Given the description of an element on the screen output the (x, y) to click on. 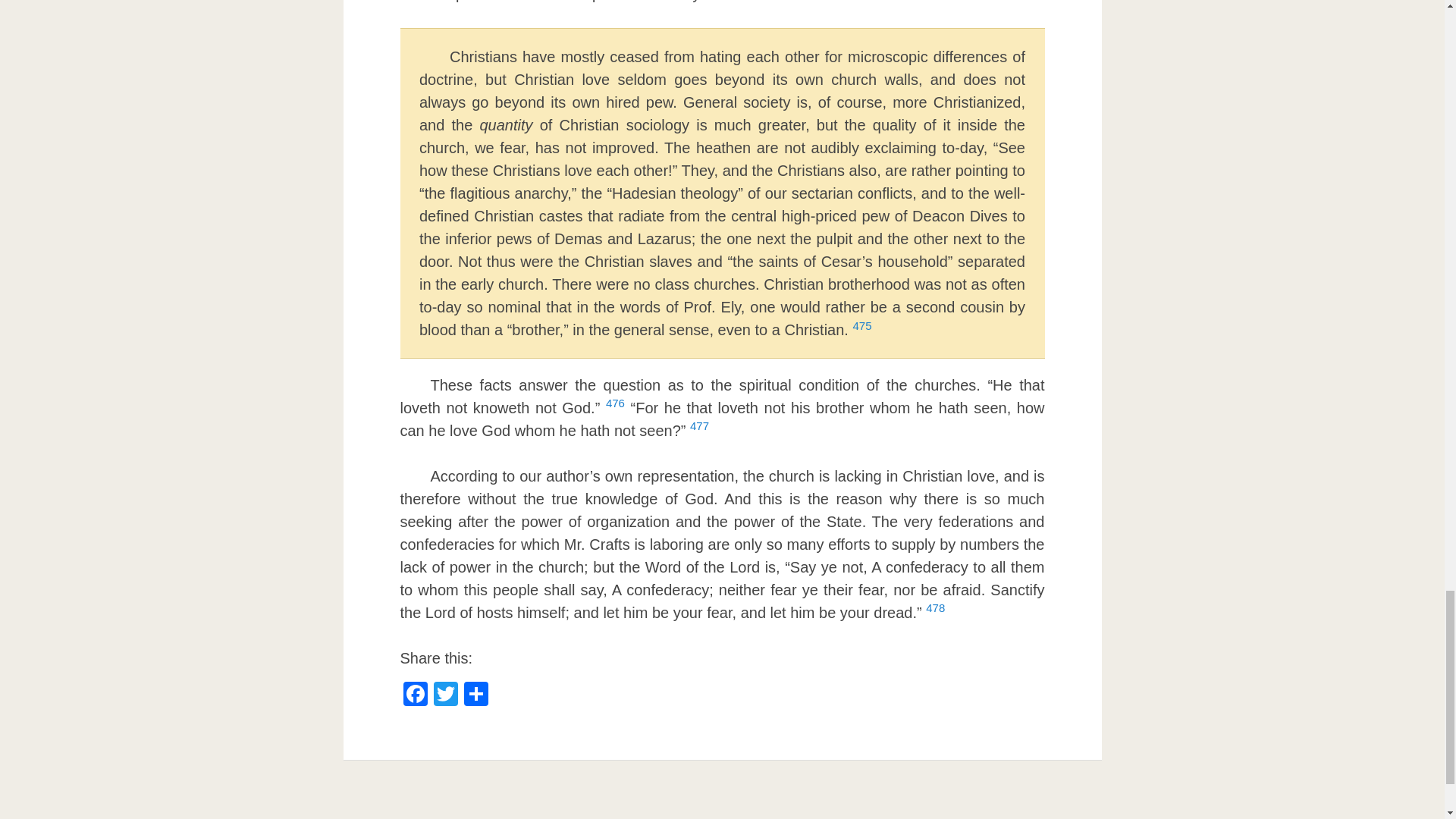
477 (699, 430)
478 (935, 612)
476 (614, 407)
Facebook (415, 695)
Twitter (445, 695)
Twitter (445, 695)
475 (860, 329)
Facebook (415, 695)
